Given the description of an element on the screen output the (x, y) to click on. 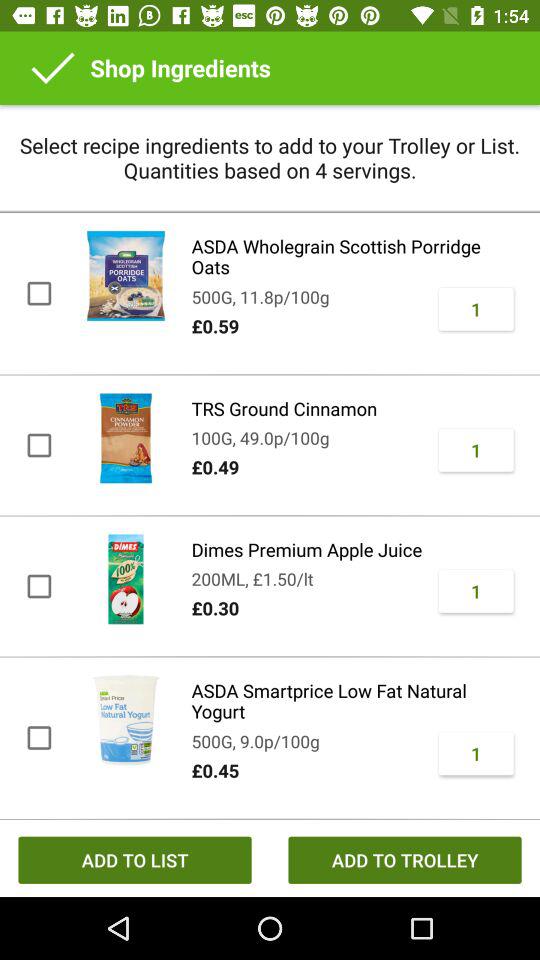
select the fourth check box (38, 738)
check the box beside dimes premium apple juice (38, 586)
select the check box beside rts ground cinnamon (38, 445)
click on digit 1 to the left of dimes premium apple juice text (476, 591)
select the second image which is before trs ground cinnamon on page (125, 437)
